Given the description of an element on the screen output the (x, y) to click on. 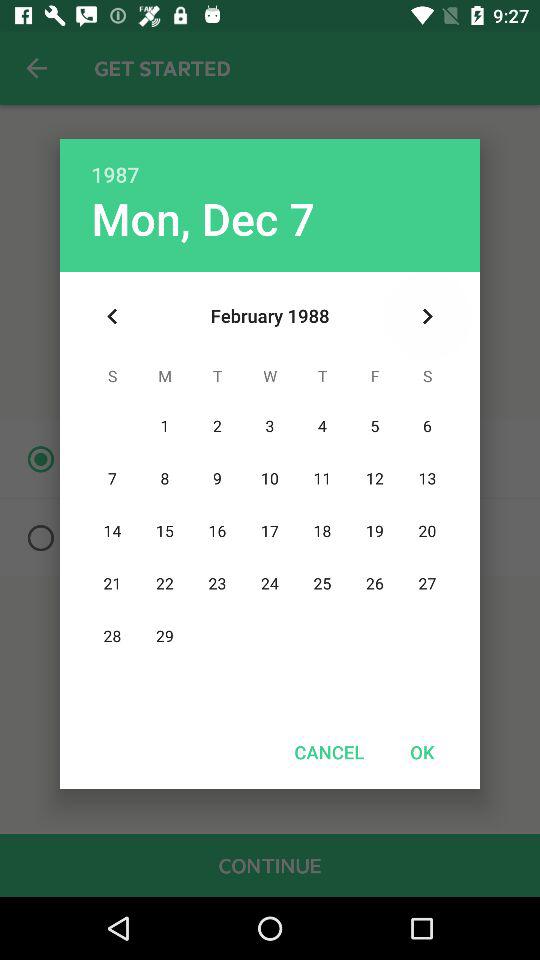
tap the icon at the top right corner (427, 316)
